Given the description of an element on the screen output the (x, y) to click on. 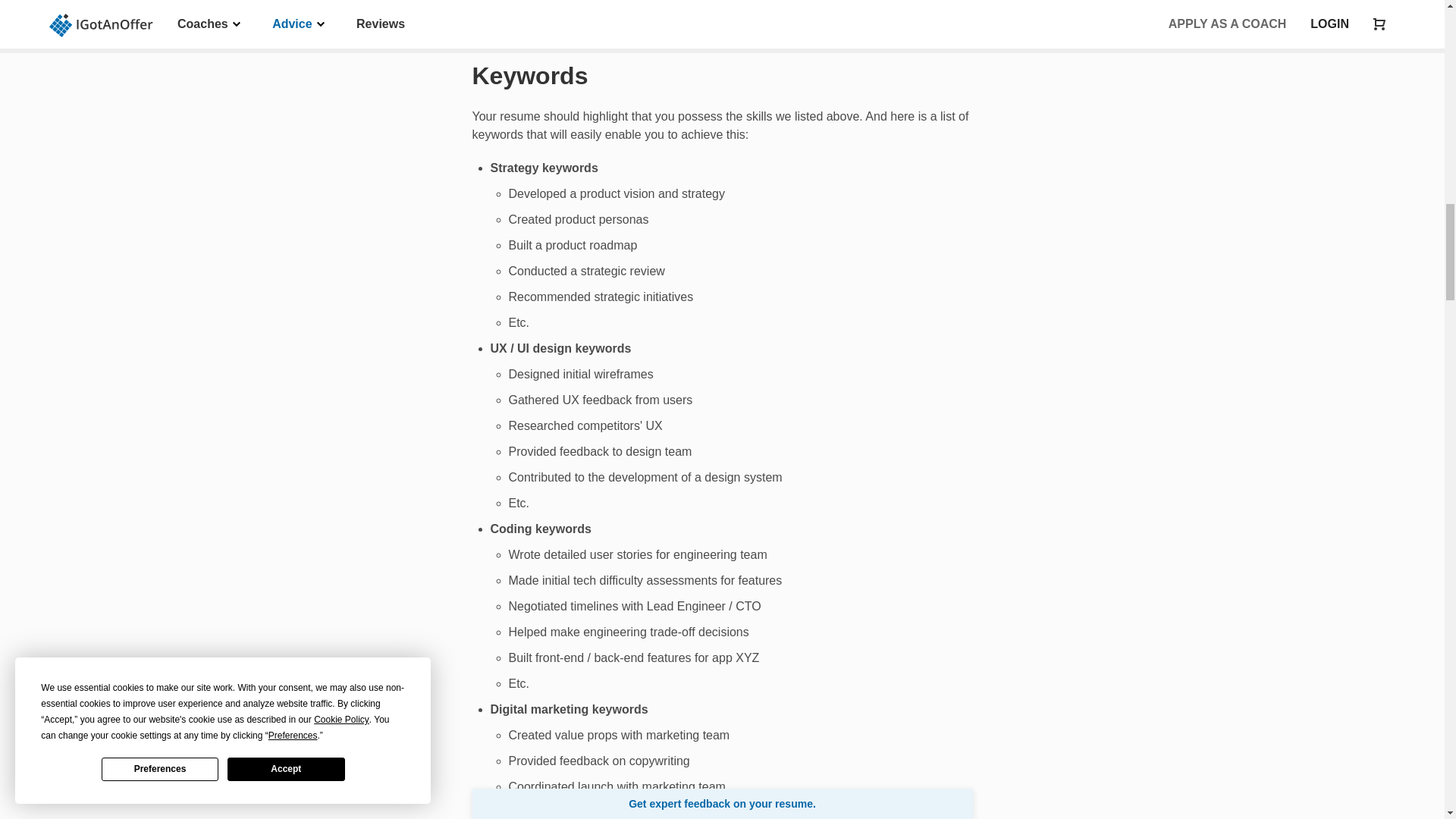
product management coaching (719, 9)
